Given the description of an element on the screen output the (x, y) to click on. 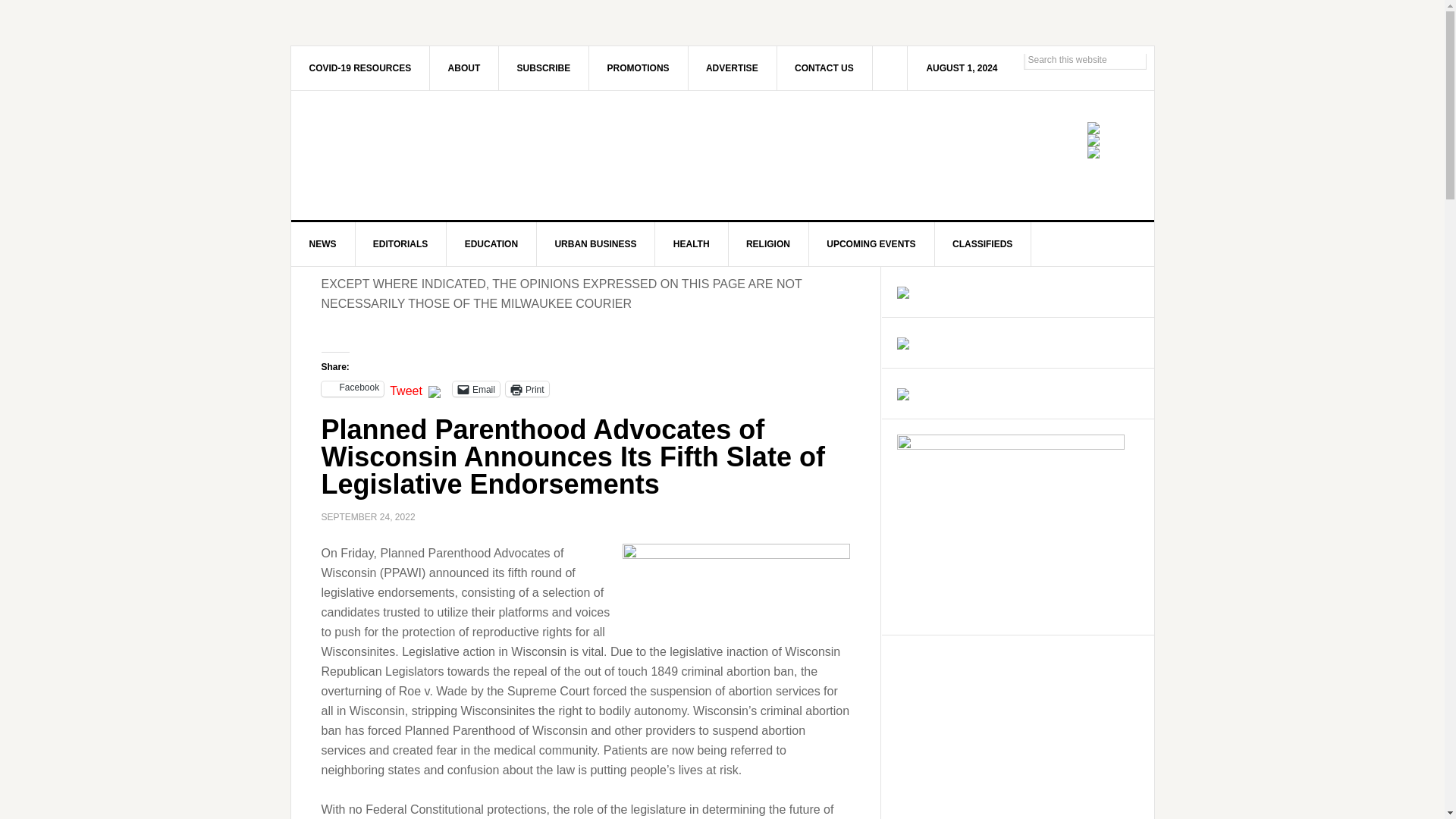
EDITORIALS (400, 243)
URBAN BUSINESS (595, 243)
SUBSCRIBE (544, 67)
NEWS (323, 243)
ABOUT (464, 67)
HEALTH (692, 243)
Facebook (352, 388)
CONTACT US (824, 67)
MILWAUKEE COURIER WEEKLY NEWSPAPER (419, 155)
Email (475, 388)
Print (526, 388)
COVID-19 RESOURCES (360, 67)
PROMOTIONS (638, 67)
Click to print (526, 388)
